Given the description of an element on the screen output the (x, y) to click on. 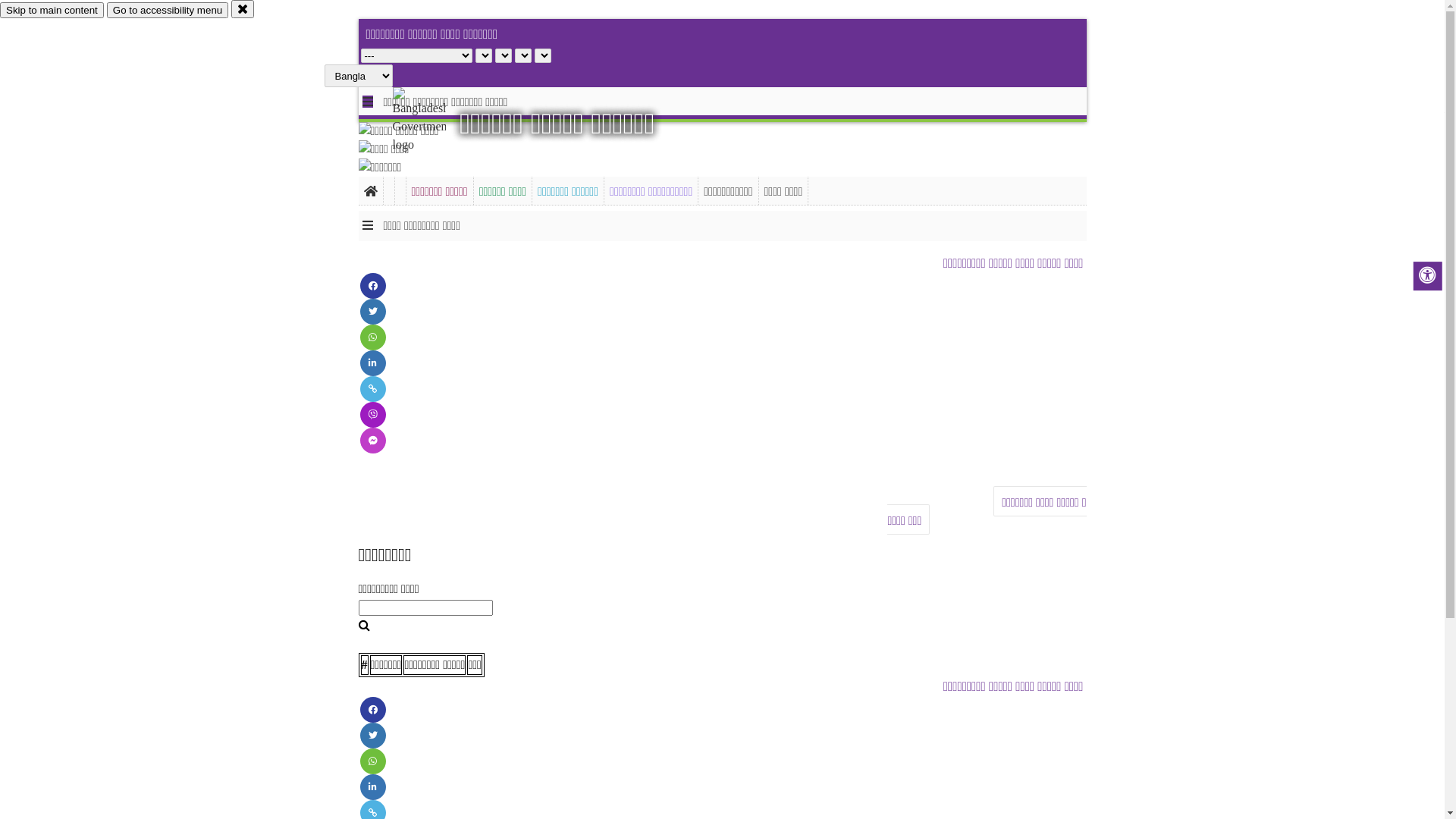
Go to accessibility menu Element type: text (167, 10)
close Element type: hover (242, 9)
Skip to main content Element type: text (51, 10)

                
             Element type: hover (431, 120)
